Given the description of an element on the screen output the (x, y) to click on. 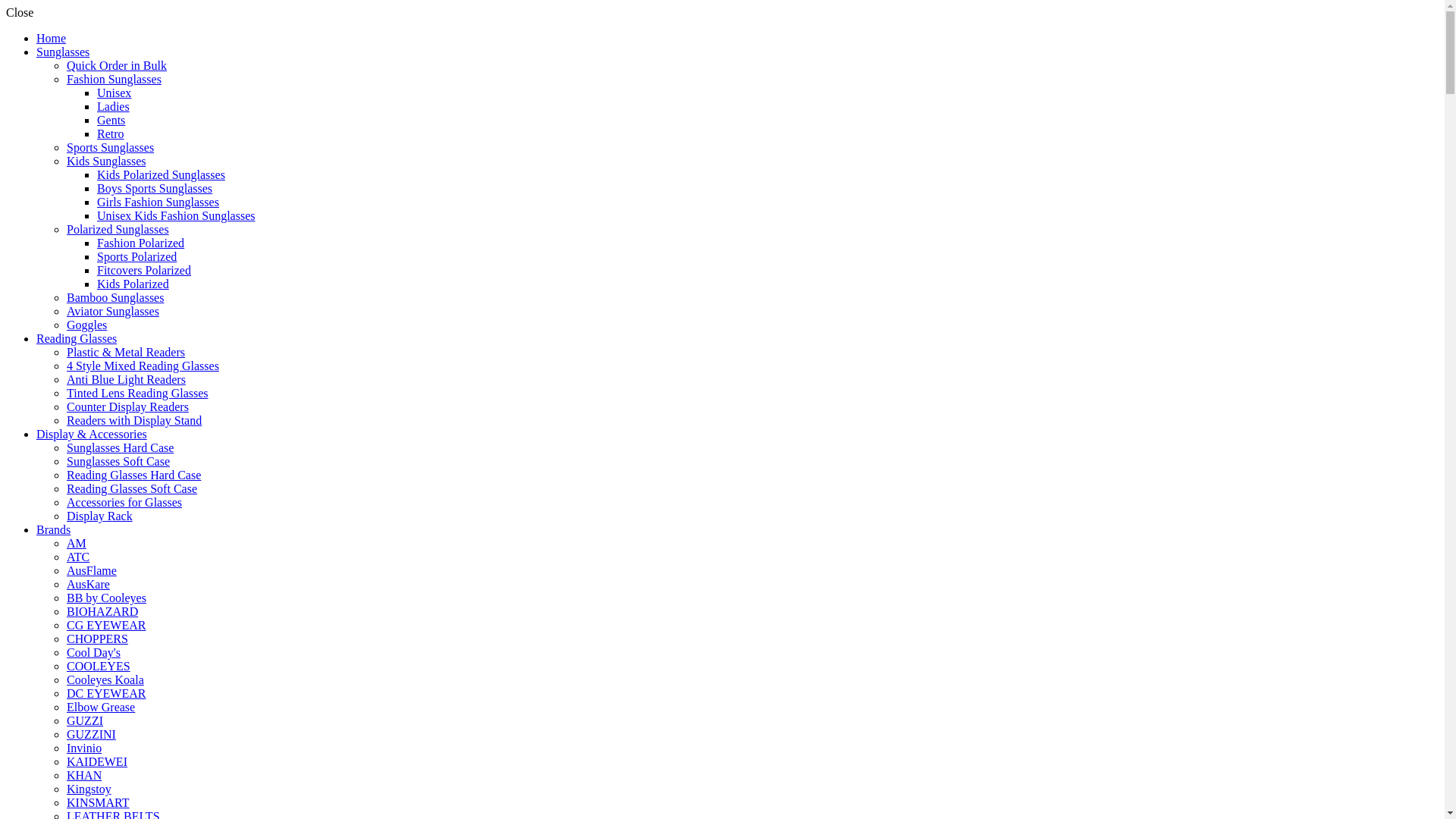
4 Style Mixed Reading Glasses Element type: text (142, 365)
Kids Polarized Sunglasses Element type: text (161, 174)
Unisex Element type: text (114, 92)
KHAN Element type: text (83, 774)
Reading Glasses Element type: text (76, 338)
Elbow Grease Element type: text (100, 706)
Display Rack Element type: text (99, 515)
Home Element type: text (50, 37)
AusFlame Element type: text (91, 570)
Fitcovers Polarized Element type: text (144, 269)
Kids Polarized Element type: text (133, 283)
Anti Blue Light Readers Element type: text (125, 379)
Goggles Element type: text (86, 324)
ATC Element type: text (77, 556)
Quick Order in Bulk Element type: text (116, 65)
Kids Sunglasses Element type: text (105, 160)
Unisex Kids Fashion Sunglasses Element type: text (175, 215)
Tinted Lens Reading Glasses Element type: text (137, 392)
Cool Day's Element type: text (93, 652)
BB by Cooleyes Element type: text (106, 597)
Girls Fashion Sunglasses Element type: text (158, 201)
Sports Polarized Element type: text (136, 256)
Brands Element type: text (53, 529)
DC EYEWEAR Element type: text (105, 693)
GUZZINI Element type: text (91, 734)
Sunglasses Soft Case Element type: text (117, 461)
Display & Accessories Element type: text (91, 433)
KAIDEWEI Element type: text (96, 761)
Readers with Display Stand Element type: text (133, 420)
Bamboo Sunglasses Element type: text (114, 297)
KINSMART Element type: text (97, 802)
Retro Element type: text (110, 133)
Fashion Polarized Element type: text (140, 242)
GUZZI Element type: text (84, 720)
BIOHAZARD Element type: text (102, 611)
AM Element type: text (76, 542)
Invinio Element type: text (83, 747)
Counter Display Readers Element type: text (127, 406)
CG EYEWEAR Element type: text (105, 624)
CHOPPERS Element type: text (97, 638)
Polarized Sunglasses Element type: text (117, 228)
Sports Sunglasses Element type: text (109, 147)
Fashion Sunglasses Element type: text (113, 78)
AusKare Element type: text (87, 583)
Kingstoy Element type: text (88, 788)
Ladies Element type: text (113, 106)
Reading Glasses Hard Case Element type: text (133, 474)
Boys Sports Sunglasses Element type: text (154, 188)
Gents Element type: text (111, 119)
COOLEYES Element type: text (98, 665)
Plastic & Metal Readers Element type: text (125, 351)
Sunglasses Hard Case Element type: text (119, 447)
Accessories for Glasses Element type: text (124, 501)
Reading Glasses Soft Case Element type: text (131, 488)
Aviator Sunglasses Element type: text (112, 310)
Cooleyes Koala Element type: text (105, 679)
Sunglasses Element type: text (62, 51)
